Given the description of an element on the screen output the (x, y) to click on. 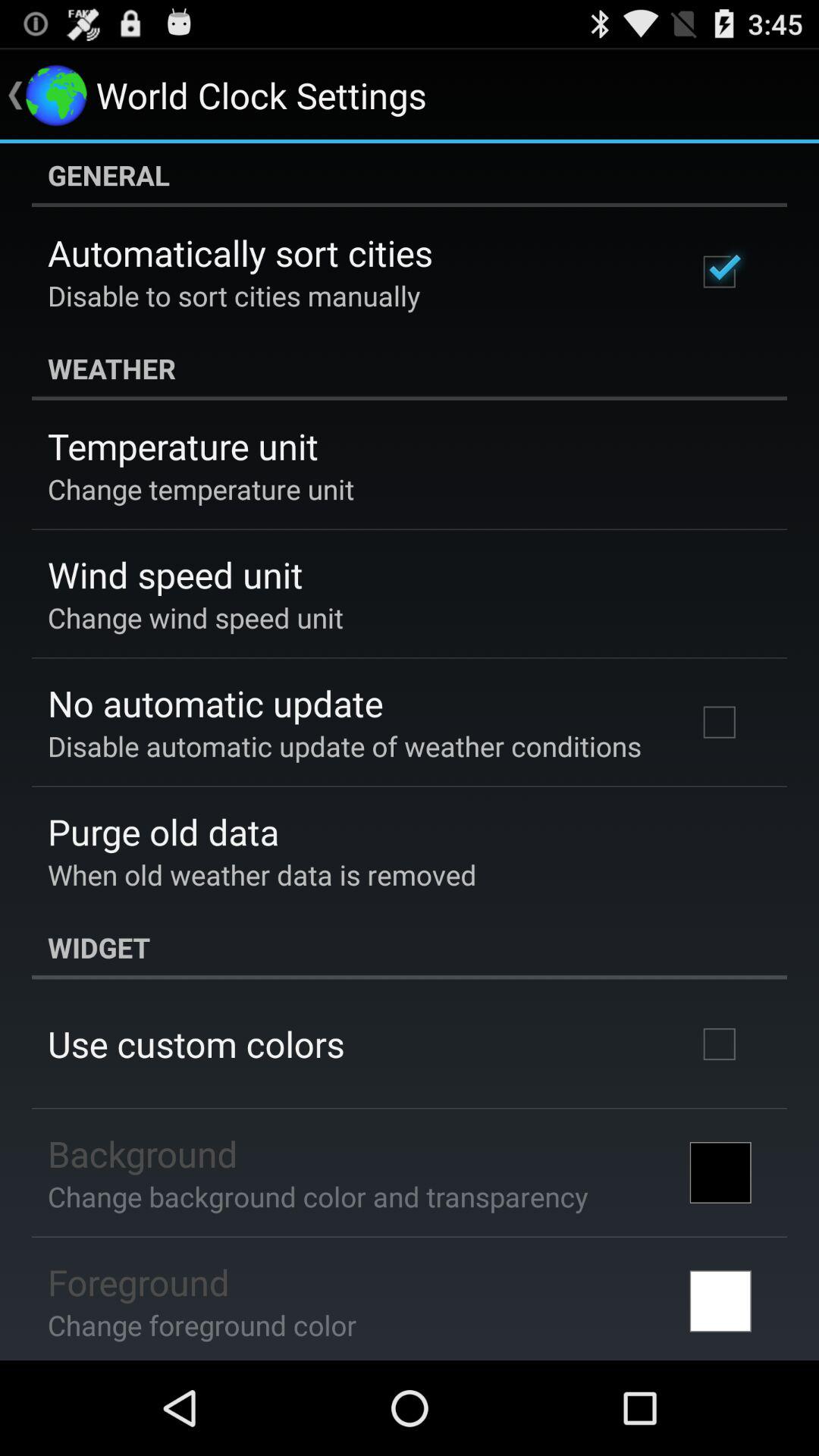
jump until general app (409, 175)
